Given the description of an element on the screen output the (x, y) to click on. 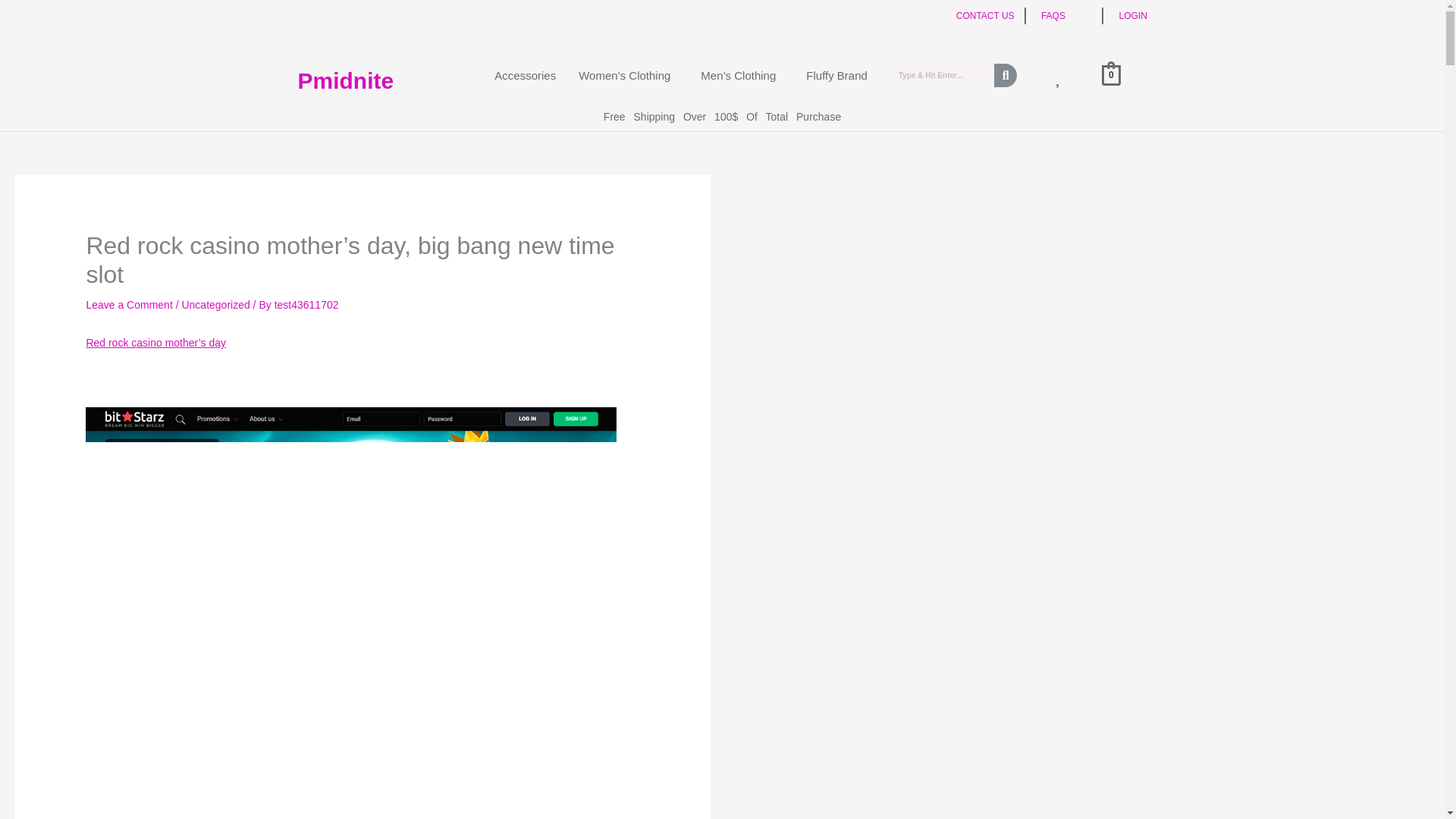
Leave a Comment (128, 304)
CONTACT US (985, 15)
test43611702 (307, 304)
Uncategorized (214, 304)
Accessories (525, 75)
View all posts by test43611702 (307, 304)
LOGIN (1132, 15)
View your shopping cart (1111, 73)
Search (943, 74)
